Given the description of an element on the screen output the (x, y) to click on. 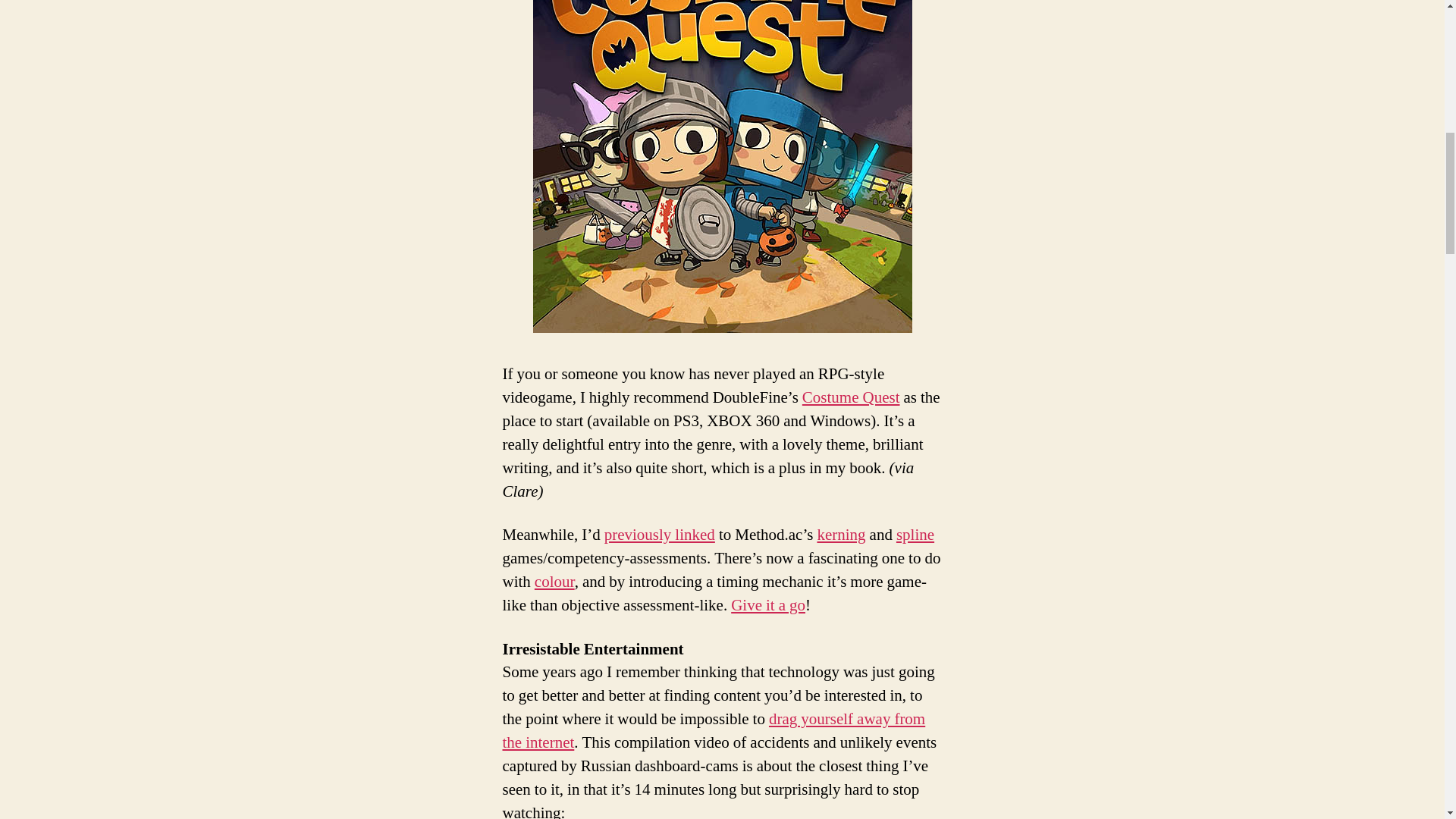
colour (554, 581)
previously linked (659, 534)
kerning (840, 534)
drag yourself away from the internet (713, 730)
Costume Quest (721, 166)
Costume Quest (850, 397)
spline (915, 534)
Give it a go (767, 605)
